Given the description of an element on the screen output the (x, y) to click on. 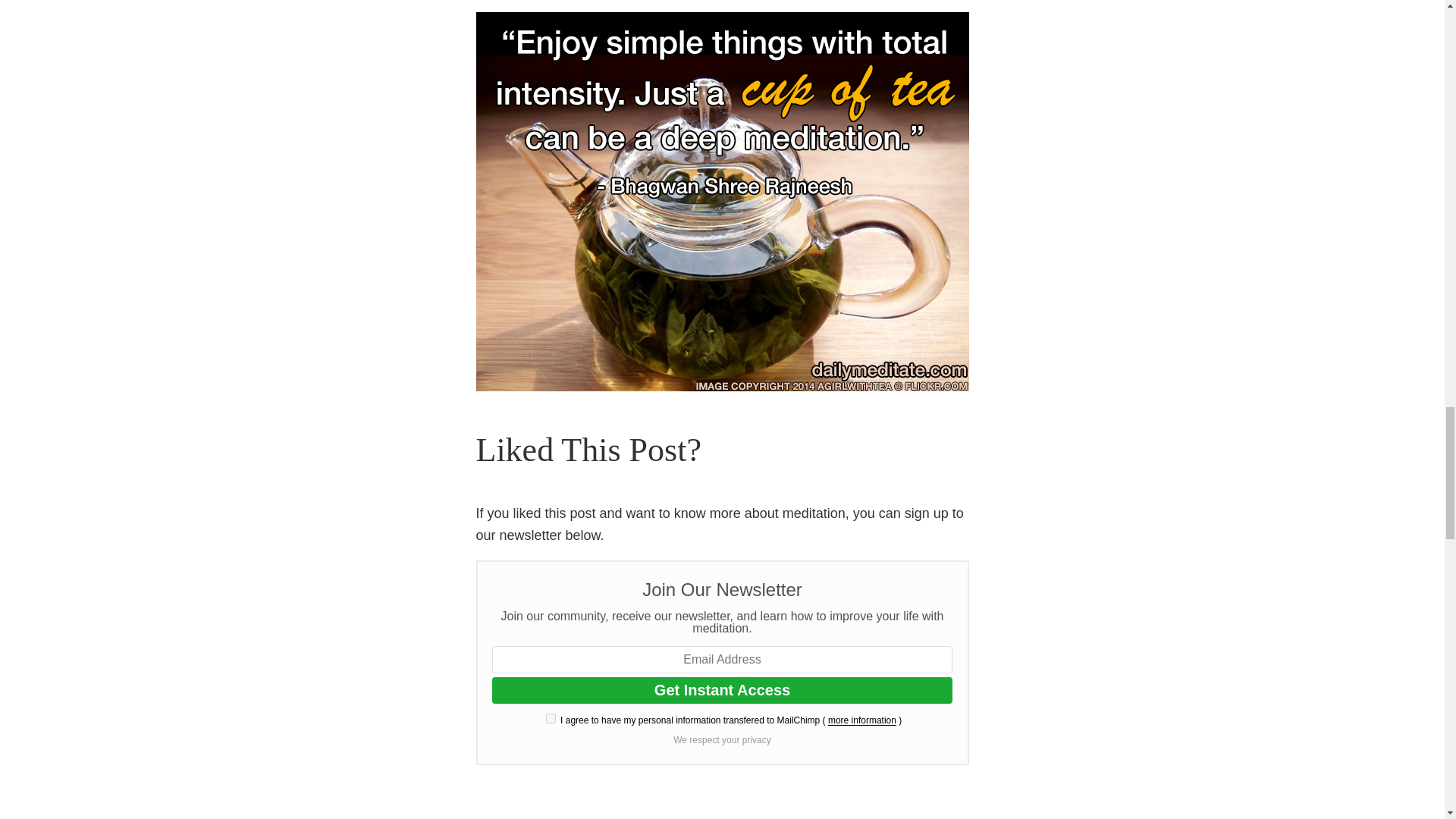
more information (862, 719)
Get Instant Access (722, 690)
on (551, 718)
Get Instant Access (722, 690)
